Given the description of an element on the screen output the (x, y) to click on. 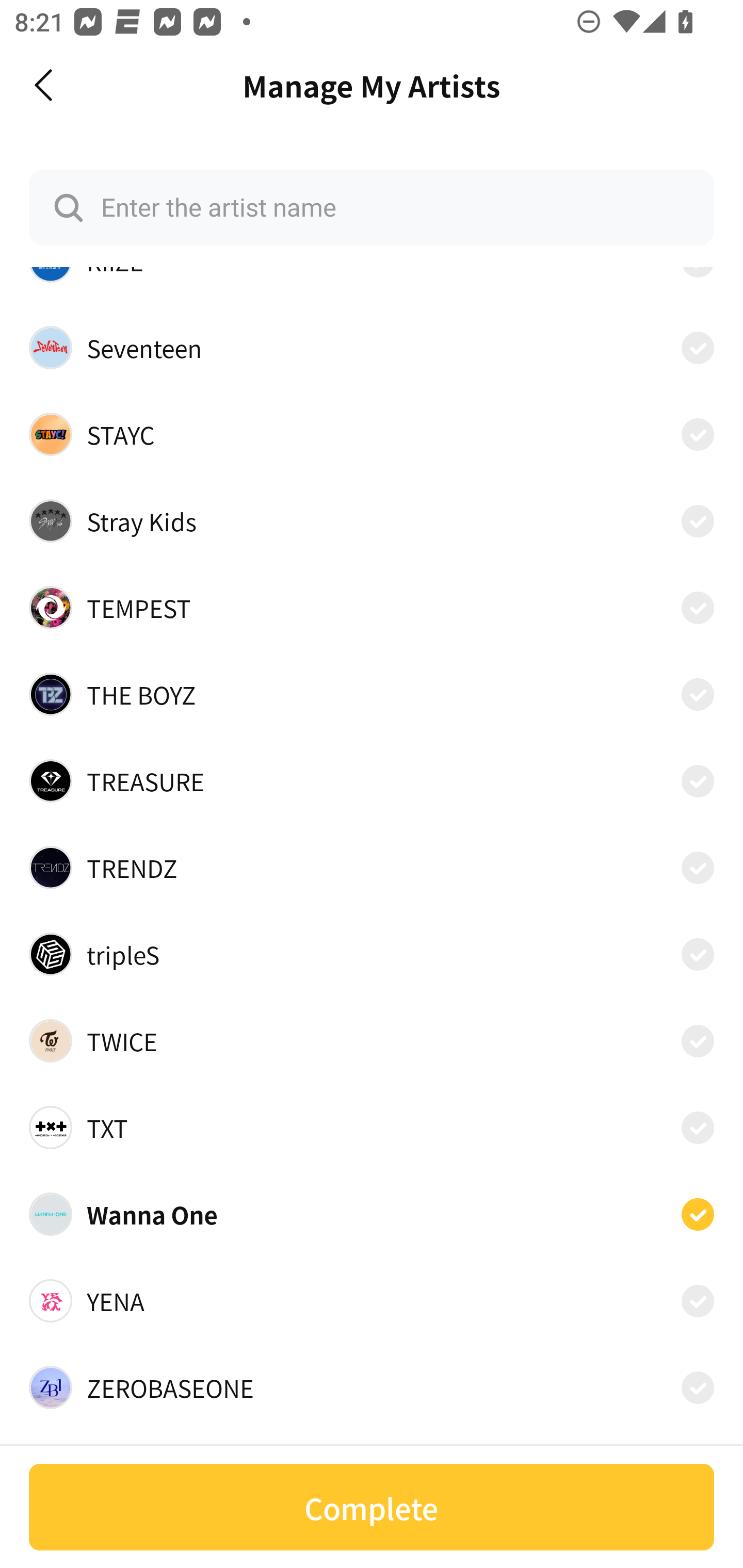
Enter the artist name (371, 207)
Seventeen (371, 348)
STAYC (371, 434)
Stray Kids (371, 520)
TEMPEST (371, 607)
THE BOYZ (371, 694)
TREASURE (371, 780)
TRENDZ (371, 867)
tripleS (371, 953)
TWICE (371, 1041)
TXT (371, 1127)
Wanna One (371, 1214)
YENA (371, 1300)
ZEROBASEONE (371, 1387)
Complete (371, 1507)
